Given the description of an element on the screen output the (x, y) to click on. 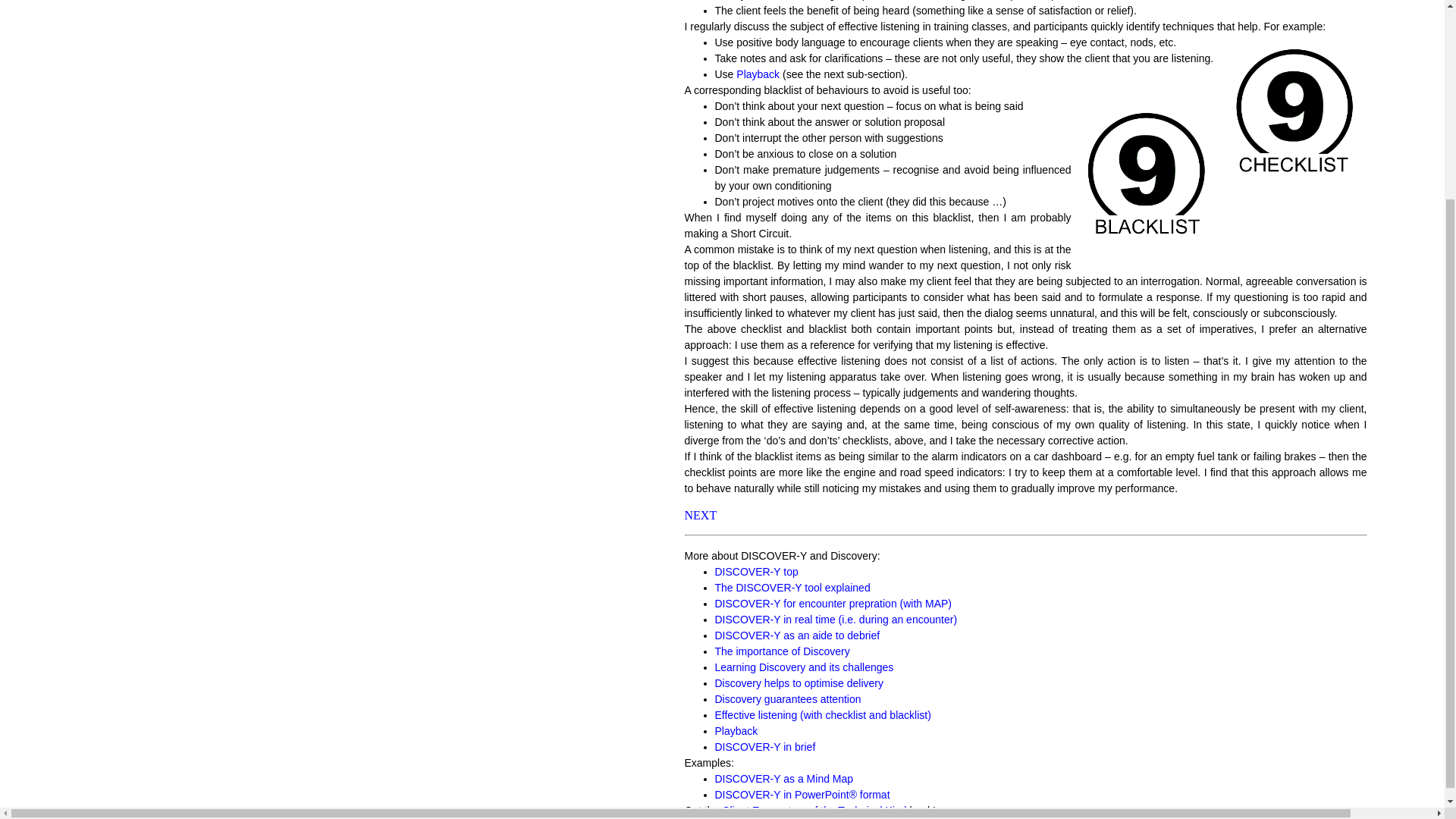
Learning Discovery and its challenges (803, 666)
DISCOVER-Y as an aide to debrief (796, 635)
The DISCOVER-Y tool explained (791, 587)
DISCOVER-Y top (755, 571)
Client Encounters of the Technical Kind (813, 810)
The importance of Discovery (781, 651)
DISCOVER-Y as a Mind Map (783, 778)
DISCOVER-Y in brief (764, 746)
Discovery helps to optimise delivery (798, 683)
NEXT (700, 514)
Playback (735, 730)
Playback (757, 73)
Discovery guarantees attention (787, 698)
